Given the description of an element on the screen output the (x, y) to click on. 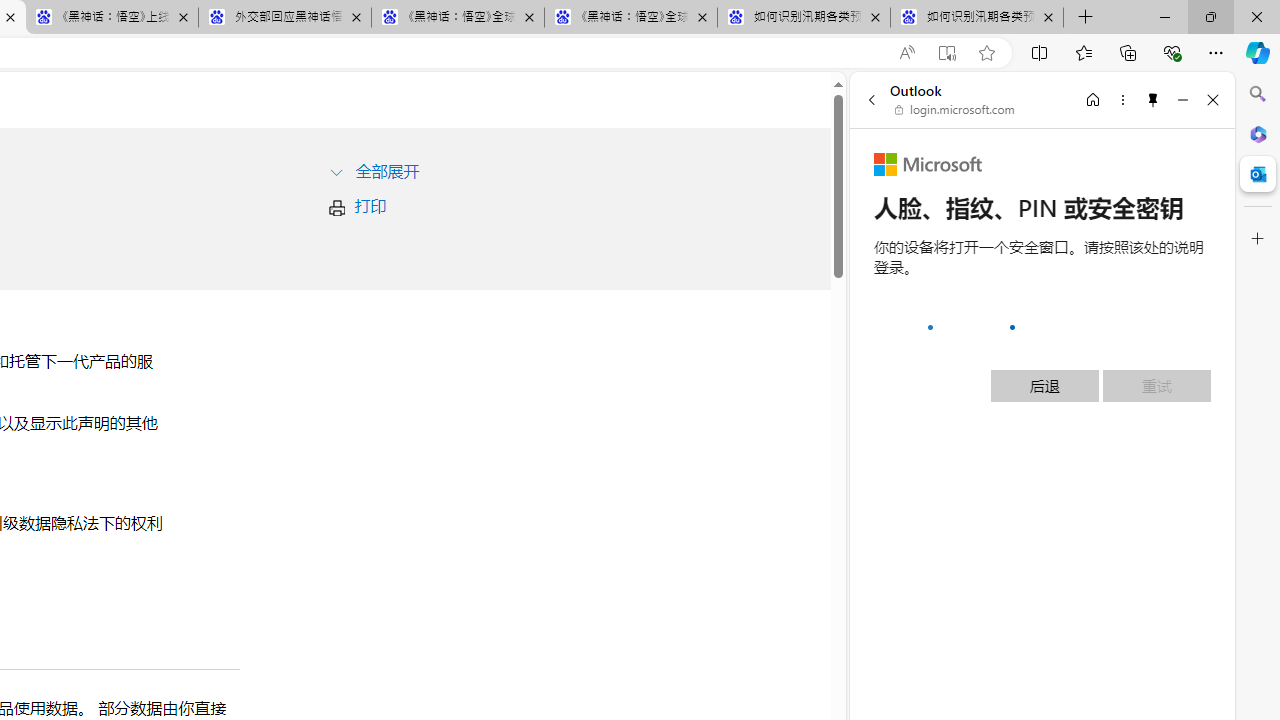
Microsoft (927, 164)
